Given the description of an element on the screen output the (x, y) to click on. 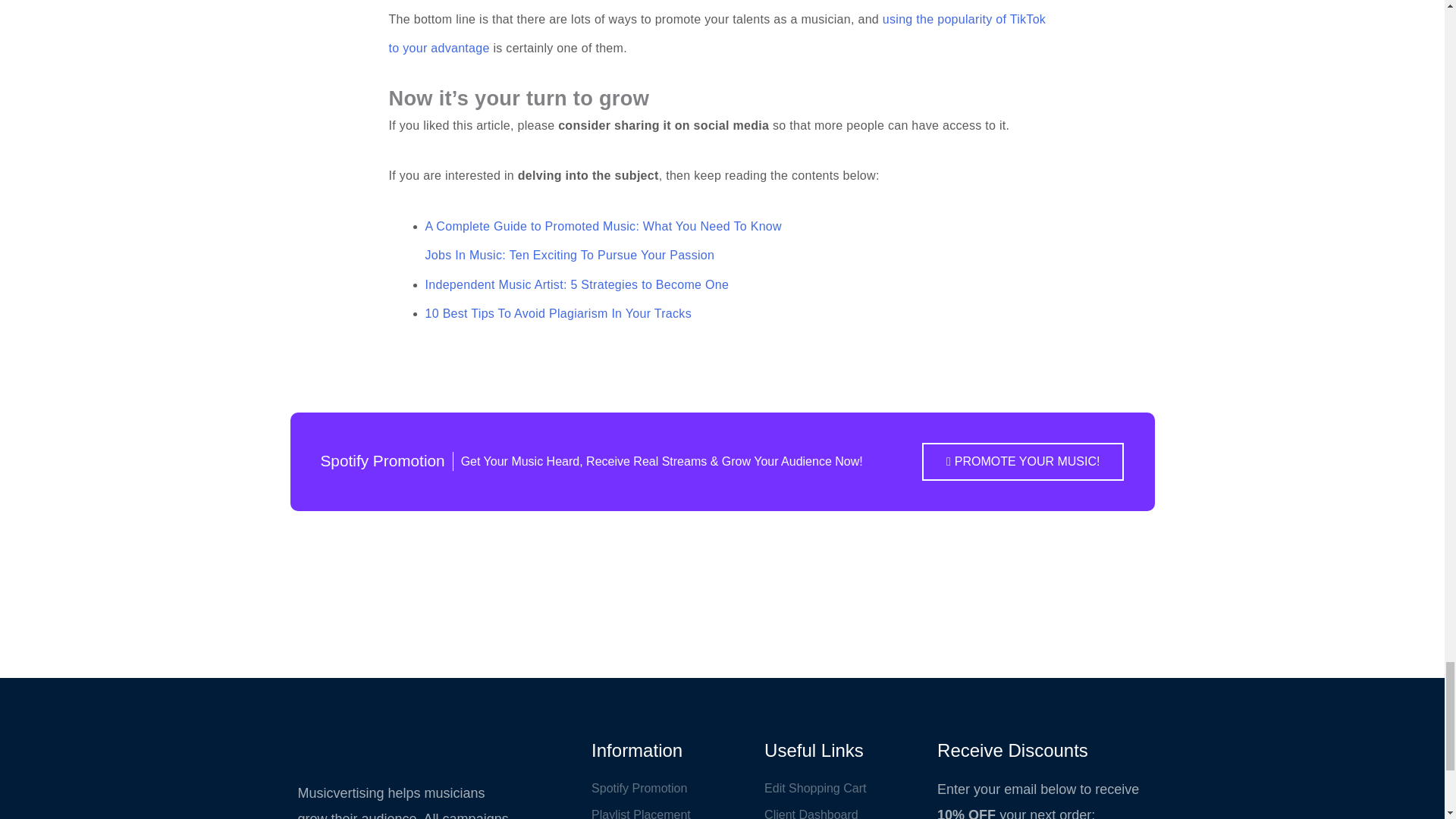
MUSICVERTISING Music Promotion (406, 751)
